Given the description of an element on the screen output the (x, y) to click on. 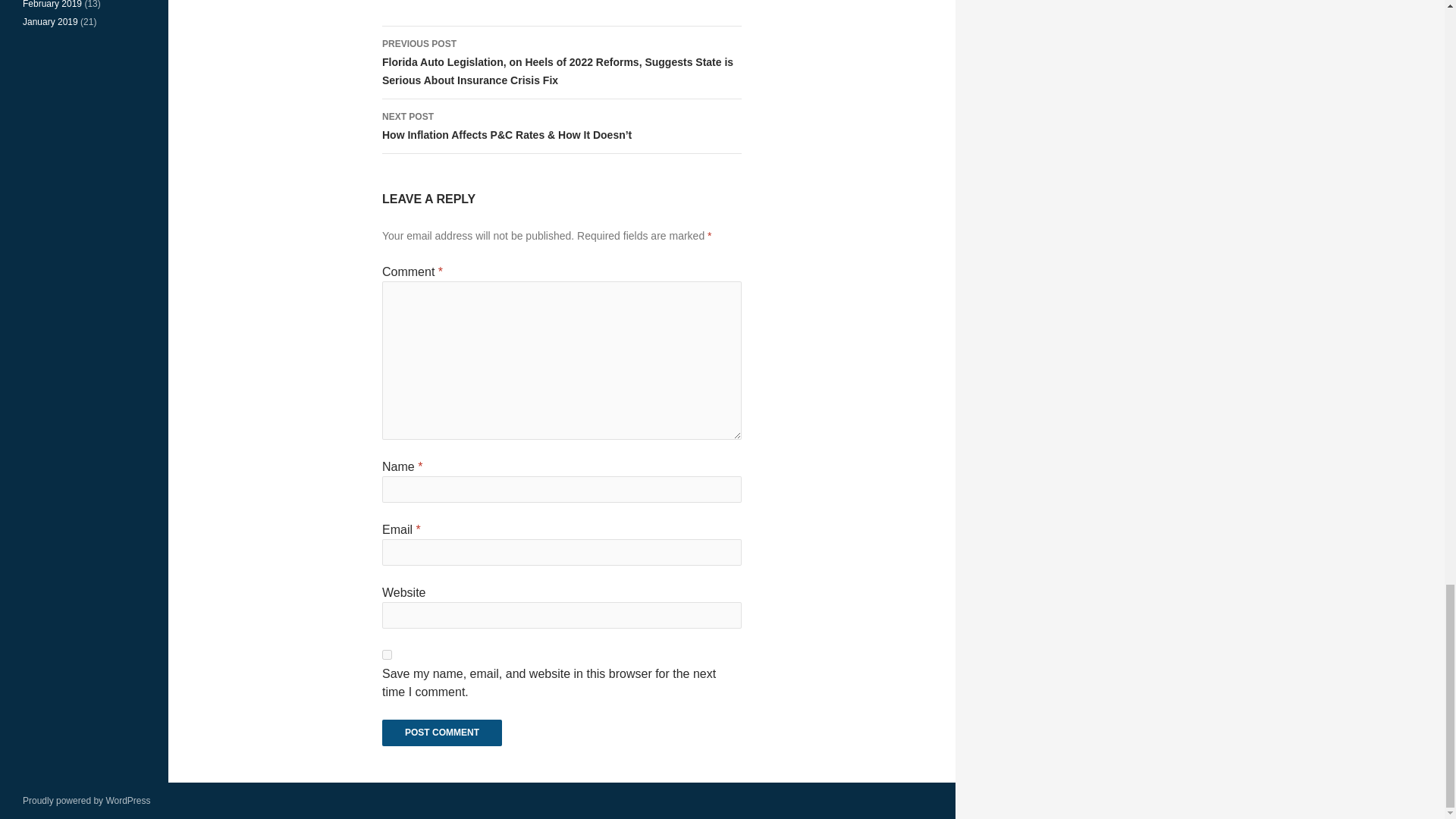
yes (386, 655)
Post Comment (441, 732)
Post Comment (441, 732)
